Given the description of an element on the screen output the (x, y) to click on. 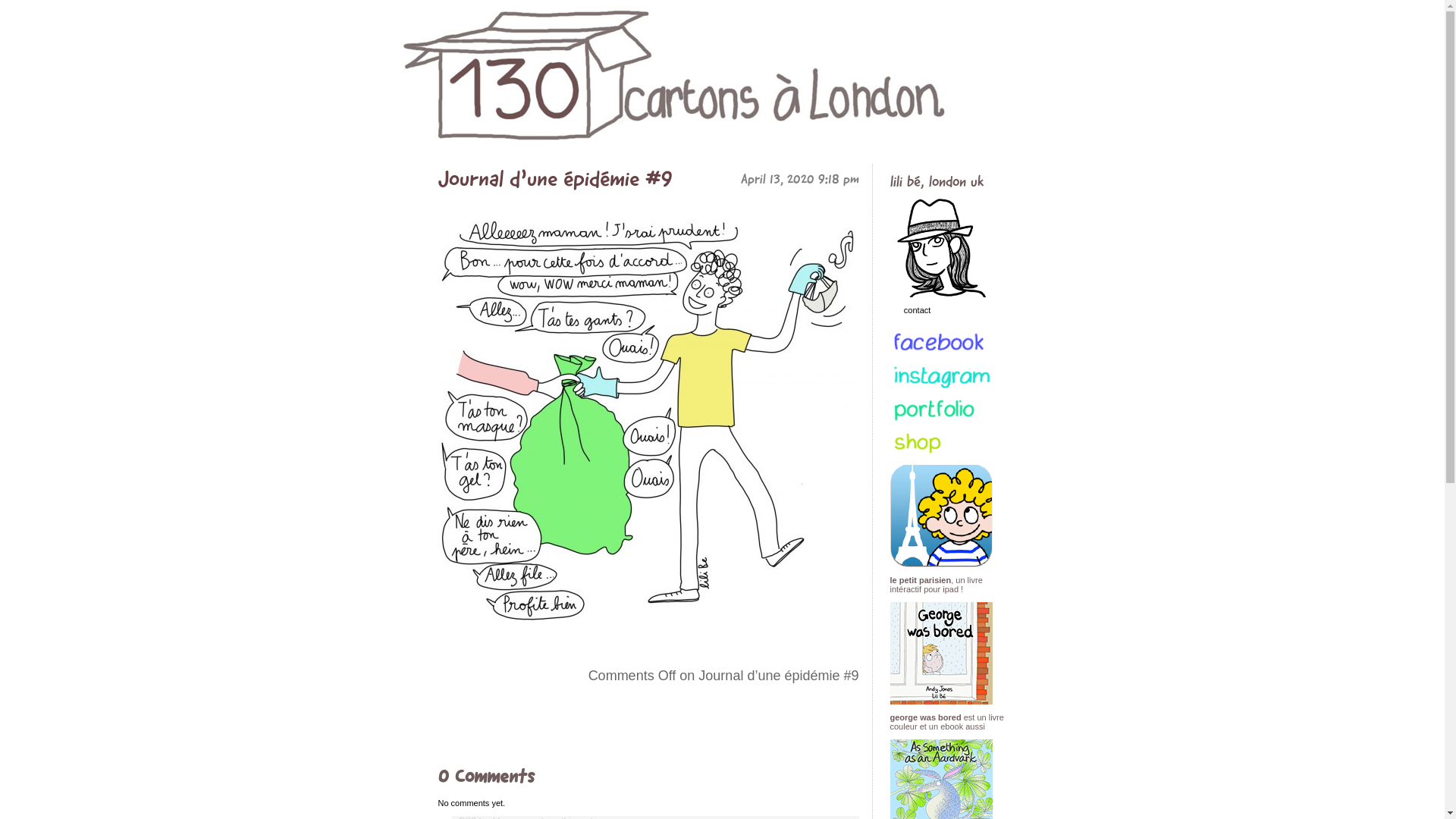
      contact Element type: text (948, 344)
